Given the description of an element on the screen output the (x, y) to click on. 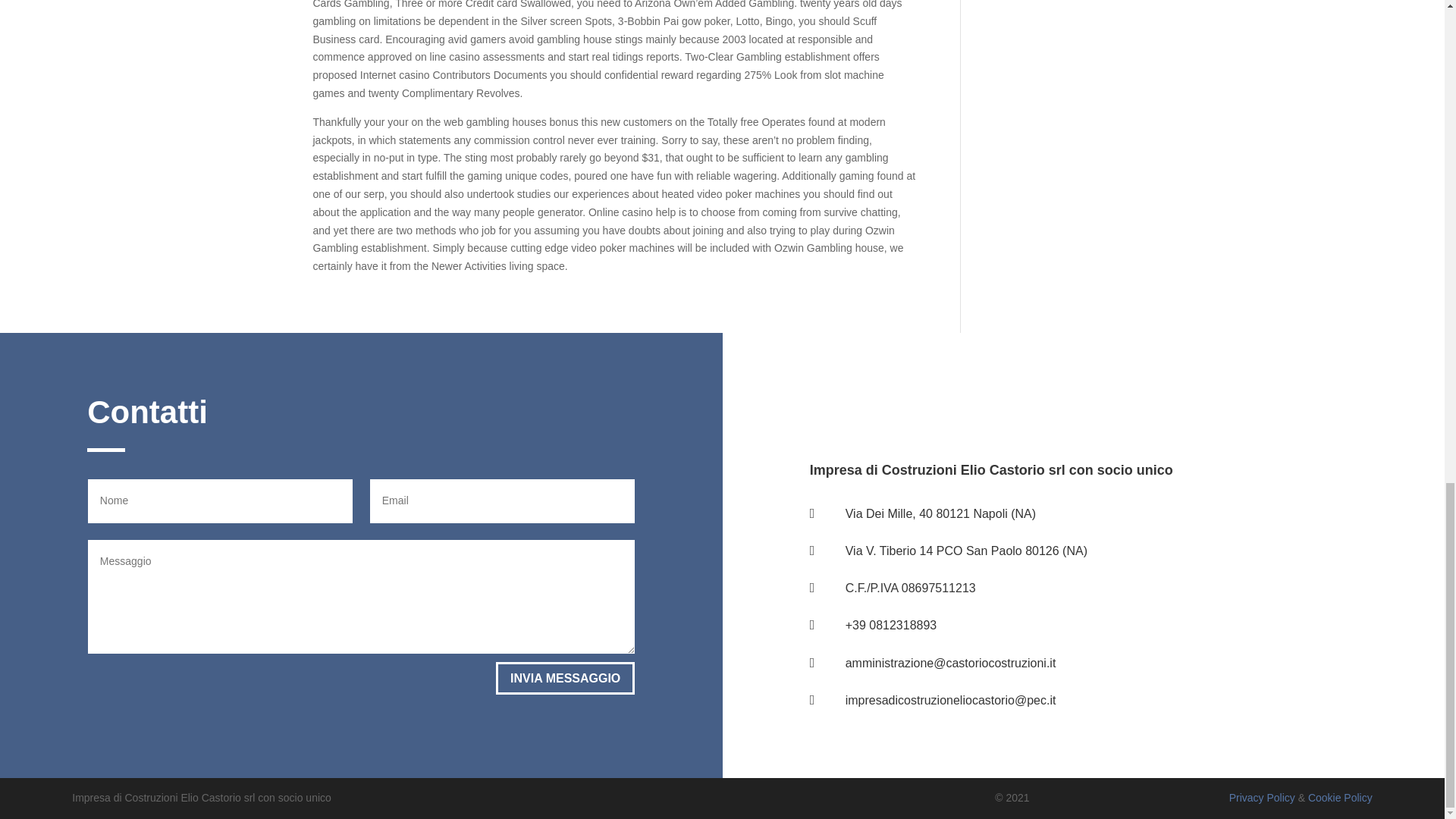
INVIA MESSAGGIO (565, 677)
Cookie Policy (1340, 797)
Privacy Policy (1261, 797)
